Given the description of an element on the screen output the (x, y) to click on. 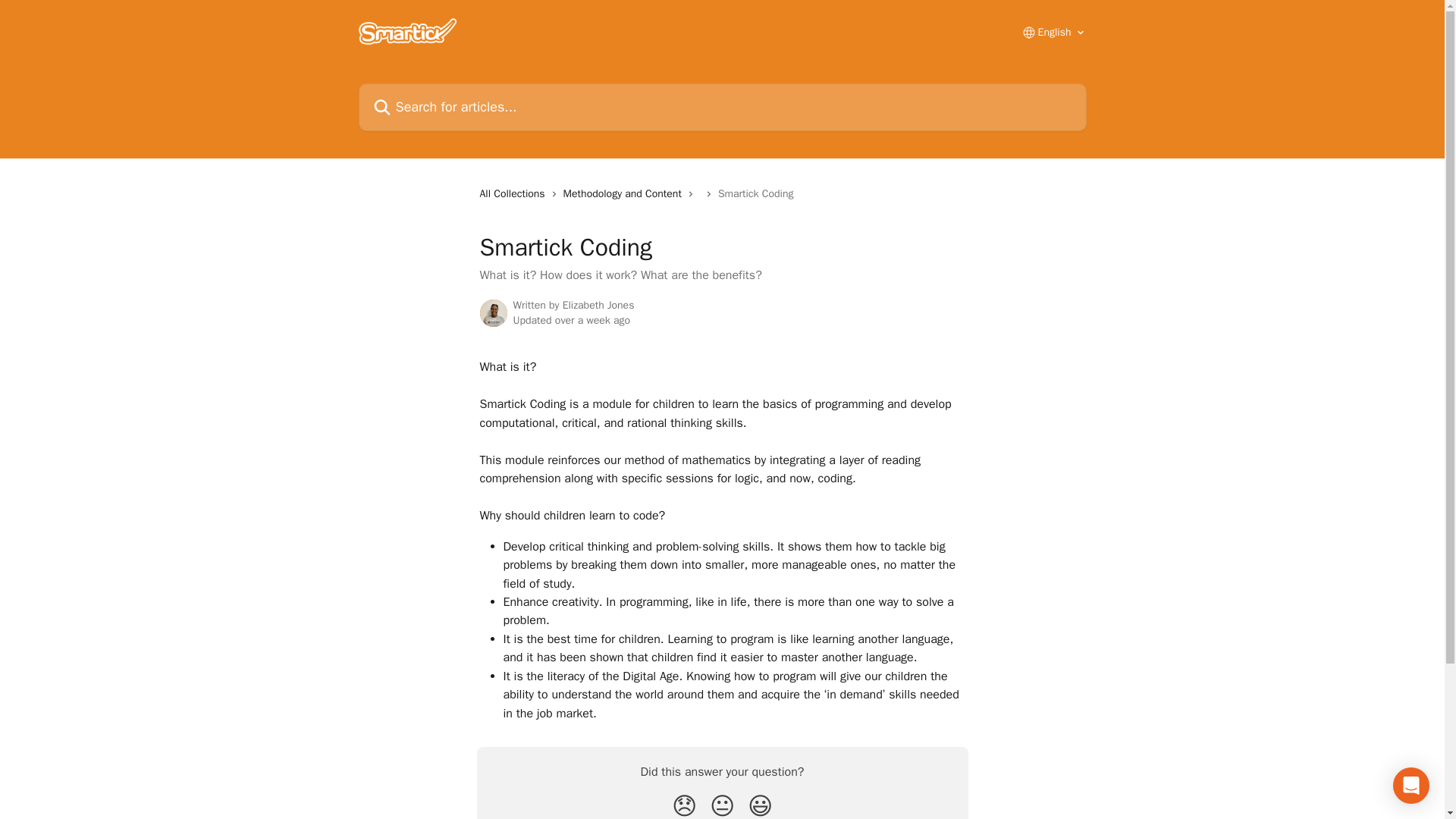
Neutral (722, 805)
Smiley (760, 805)
Disappointed (684, 805)
Methodology and Content (625, 193)
All Collections (514, 193)
